Given the description of an element on the screen output the (x, y) to click on. 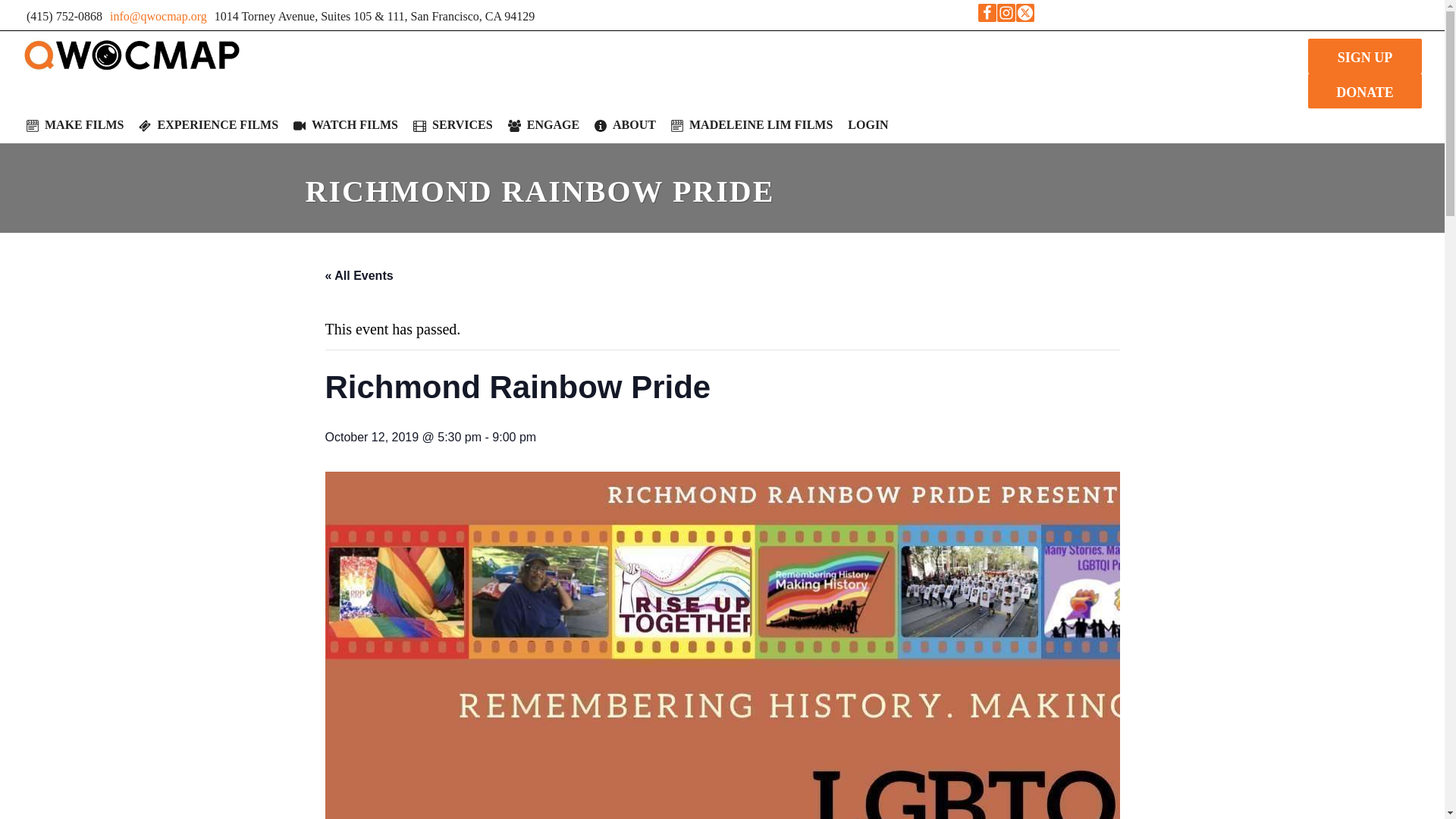
EXPERIENCE FILMS (208, 124)
MAKE FILMS (74, 124)
SERVICES (453, 124)
Queer Women of Color Media Arts Project (132, 54)
WATCH FILMS (345, 124)
WATCH FILMS (345, 124)
ABOUT (624, 124)
LOGIN (867, 124)
SERVICES (453, 124)
SIGN UP (1364, 55)
